Given the description of an element on the screen output the (x, y) to click on. 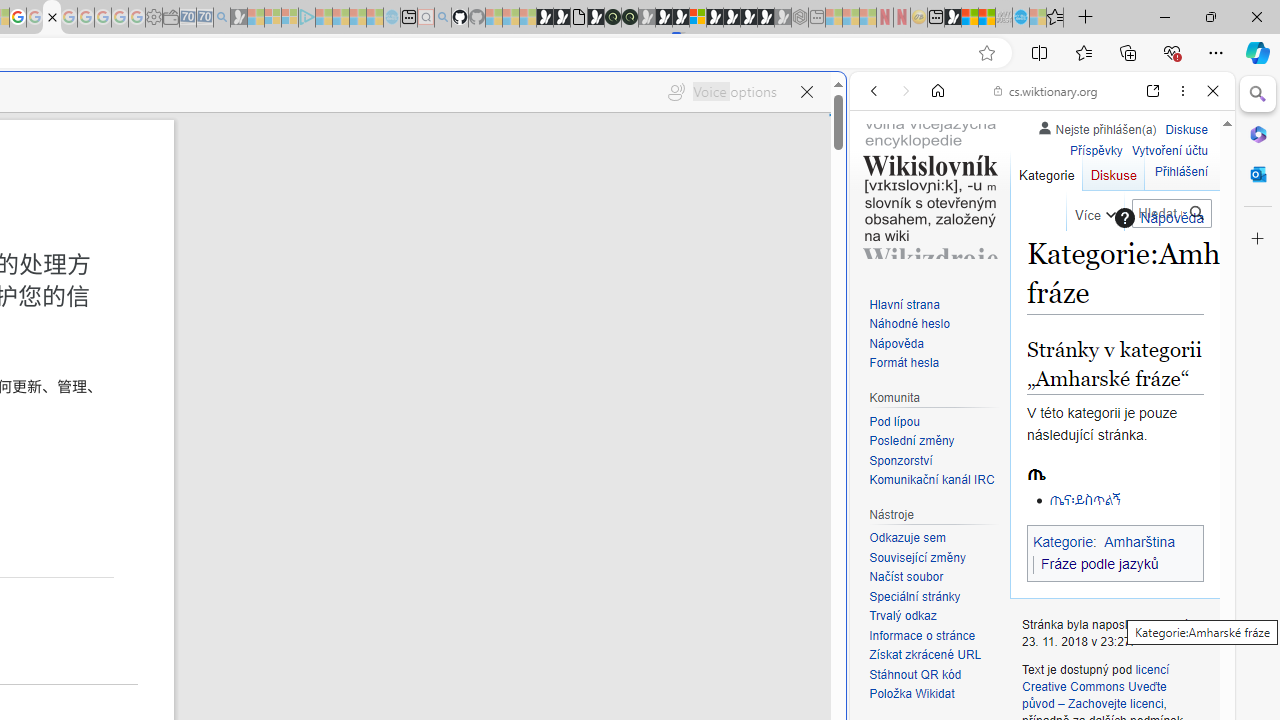
Odkazuje sem (907, 538)
Search Filter, IMAGES (939, 228)
Web scope (882, 180)
Voice options (721, 92)
Services - Maintenance | Sky Blue Bikes - Sky Blue Bikes (1020, 17)
Future Focus Report 2024 (629, 17)
